Given the description of an element on the screen output the (x, y) to click on. 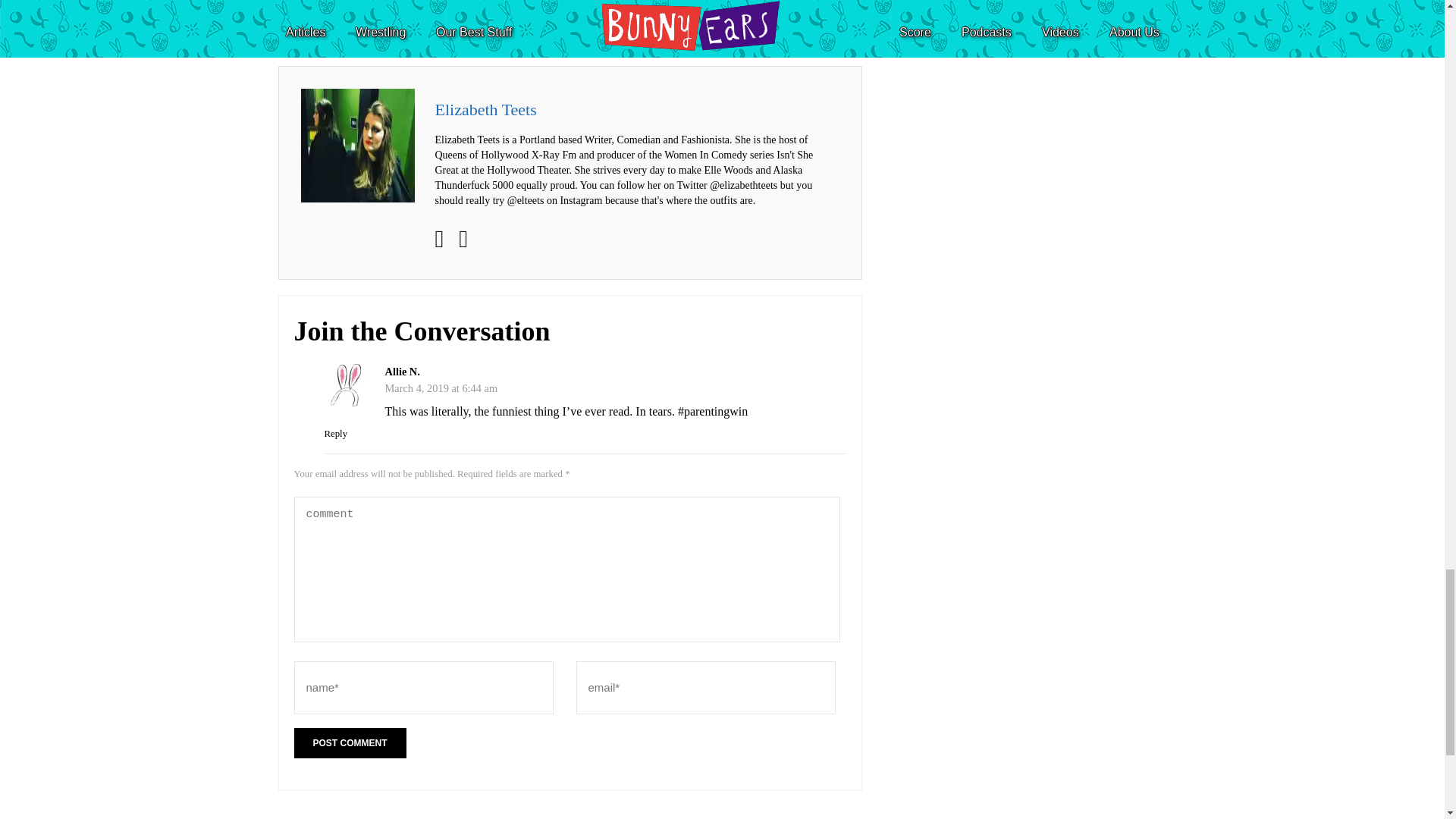
INTERCONNECTIONS (616, 22)
MOMS (759, 22)
March 4, 2019 at 6:44 am (441, 387)
FEAR (555, 22)
ANXIETY (341, 22)
Posts by Elizabeth Teets (486, 111)
ELIZABETH TEETS (456, 22)
Post Comment (350, 743)
MENTAL HEALTH (703, 22)
FASHION (518, 22)
